Given the description of an element on the screen output the (x, y) to click on. 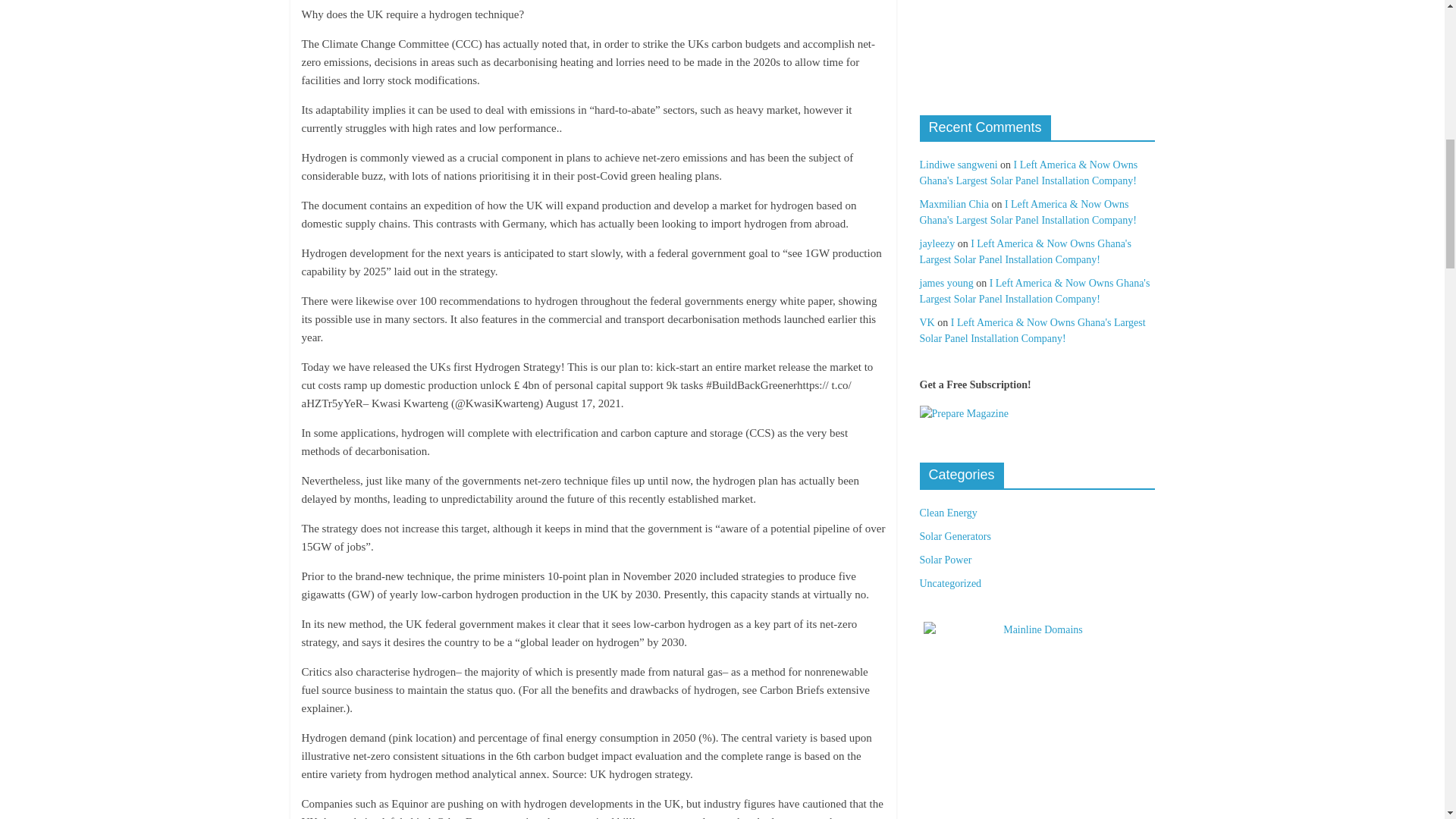
Lindiwe sangweni (957, 164)
Prepare Magazine (962, 413)
jayleezy (936, 243)
Clean Energy (947, 512)
james young (945, 283)
Maxmilian Chia (953, 204)
VK (926, 322)
Uncategorized (949, 583)
Solar Power (944, 559)
Solar Generators (954, 536)
